Given the description of an element on the screen output the (x, y) to click on. 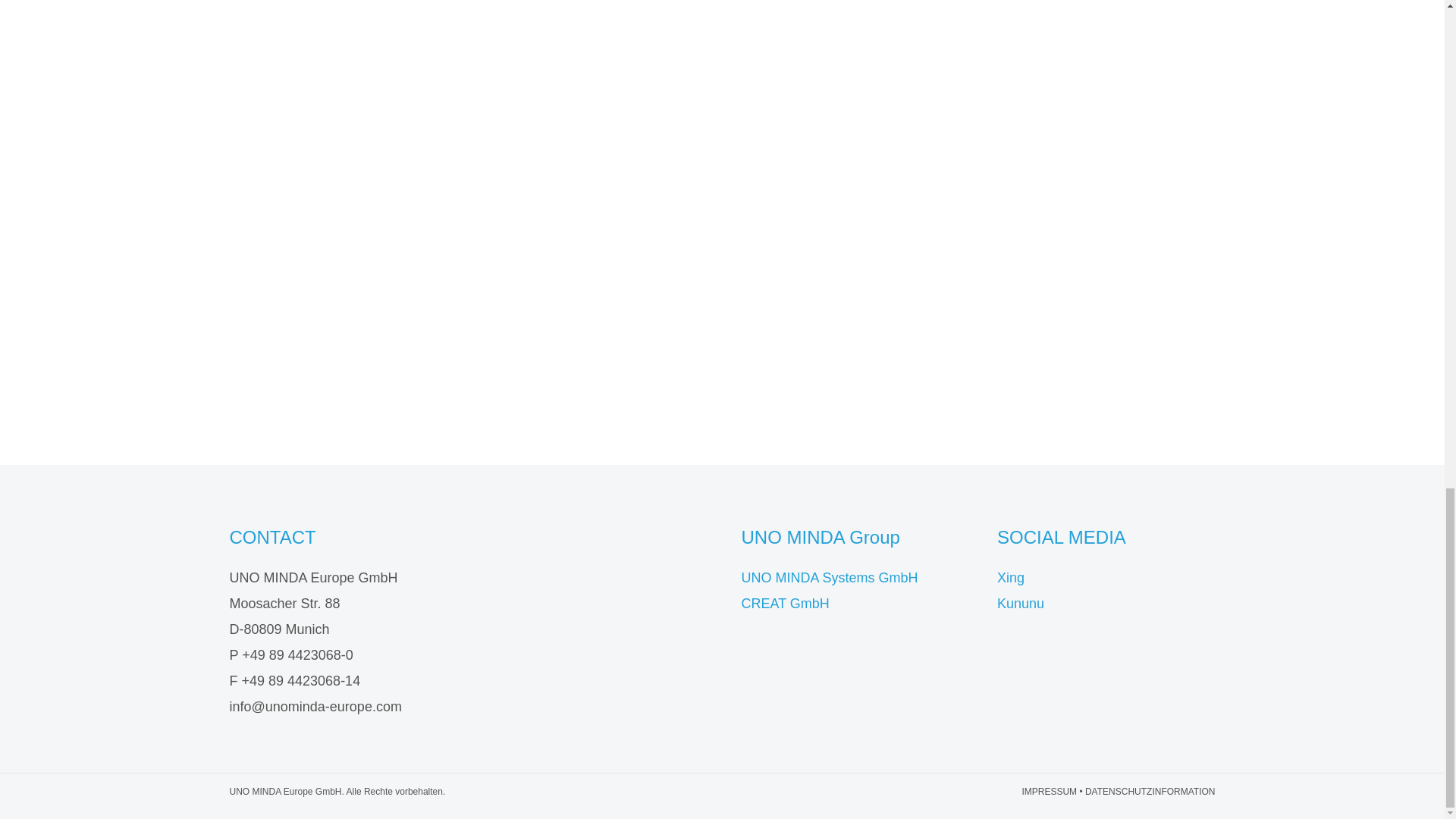
DATENSCHUTZINFORMATION (1149, 791)
CREAT GmbH (785, 603)
Kununu (1020, 603)
Xing (1011, 577)
IMPRESSUM (1050, 791)
UNO MINDA Systems GmbH (829, 577)
